Given the description of an element on the screen output the (x, y) to click on. 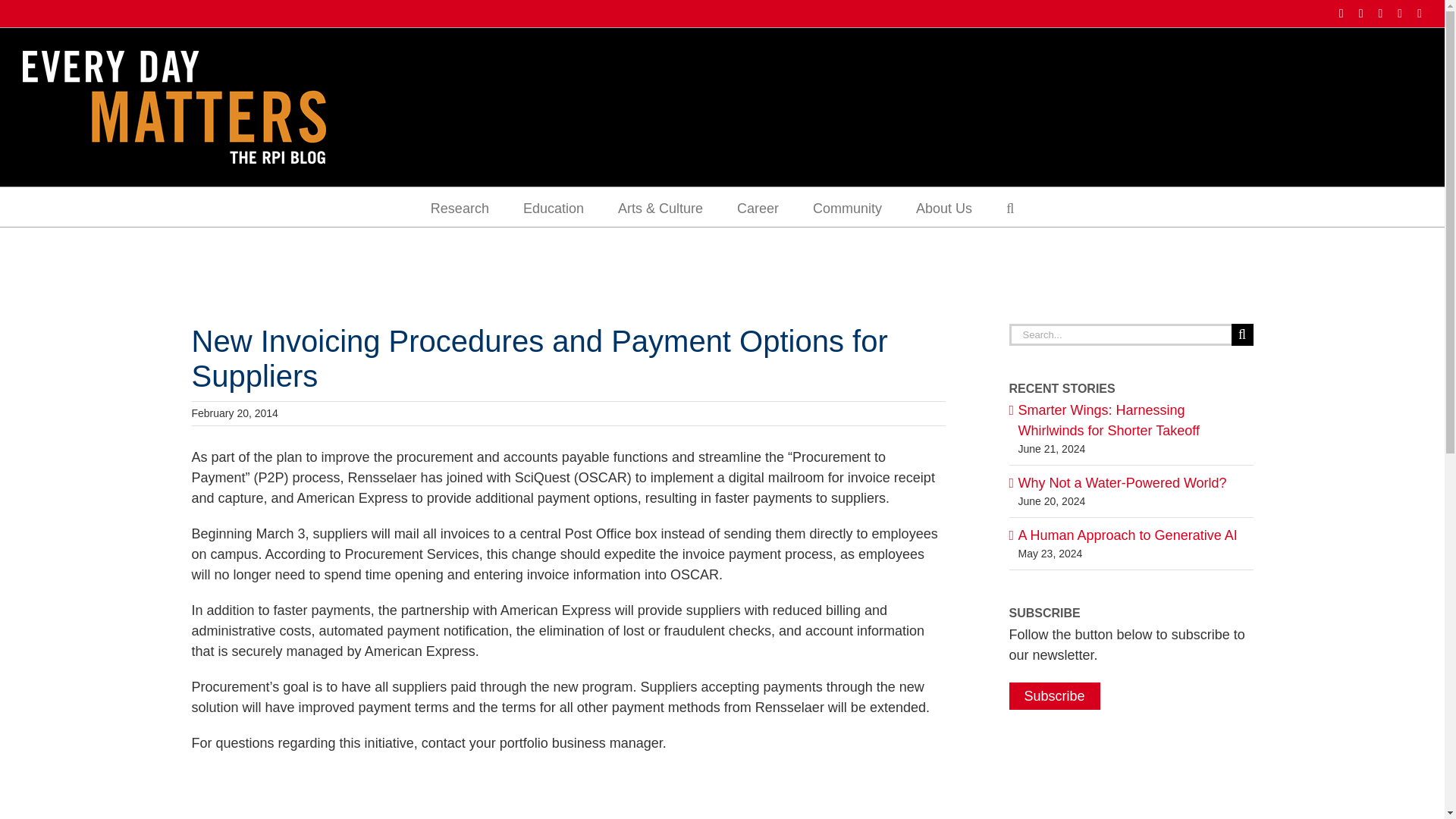
LinkedIn (1379, 13)
Smarter Wings: Harnessing Whirlwinds for Shorter Takeoff (1107, 420)
YouTube (1419, 13)
Research (459, 206)
Subscribe (1054, 696)
A Human Approach to Generative AI (1126, 534)
About Us (943, 206)
Community (847, 206)
X (1399, 13)
Facebook (1341, 13)
Instagram (1360, 13)
Why Not a Water-Powered World? (1121, 482)
Search (1009, 206)
Education (552, 206)
Career (757, 206)
